Given the description of an element on the screen output the (x, y) to click on. 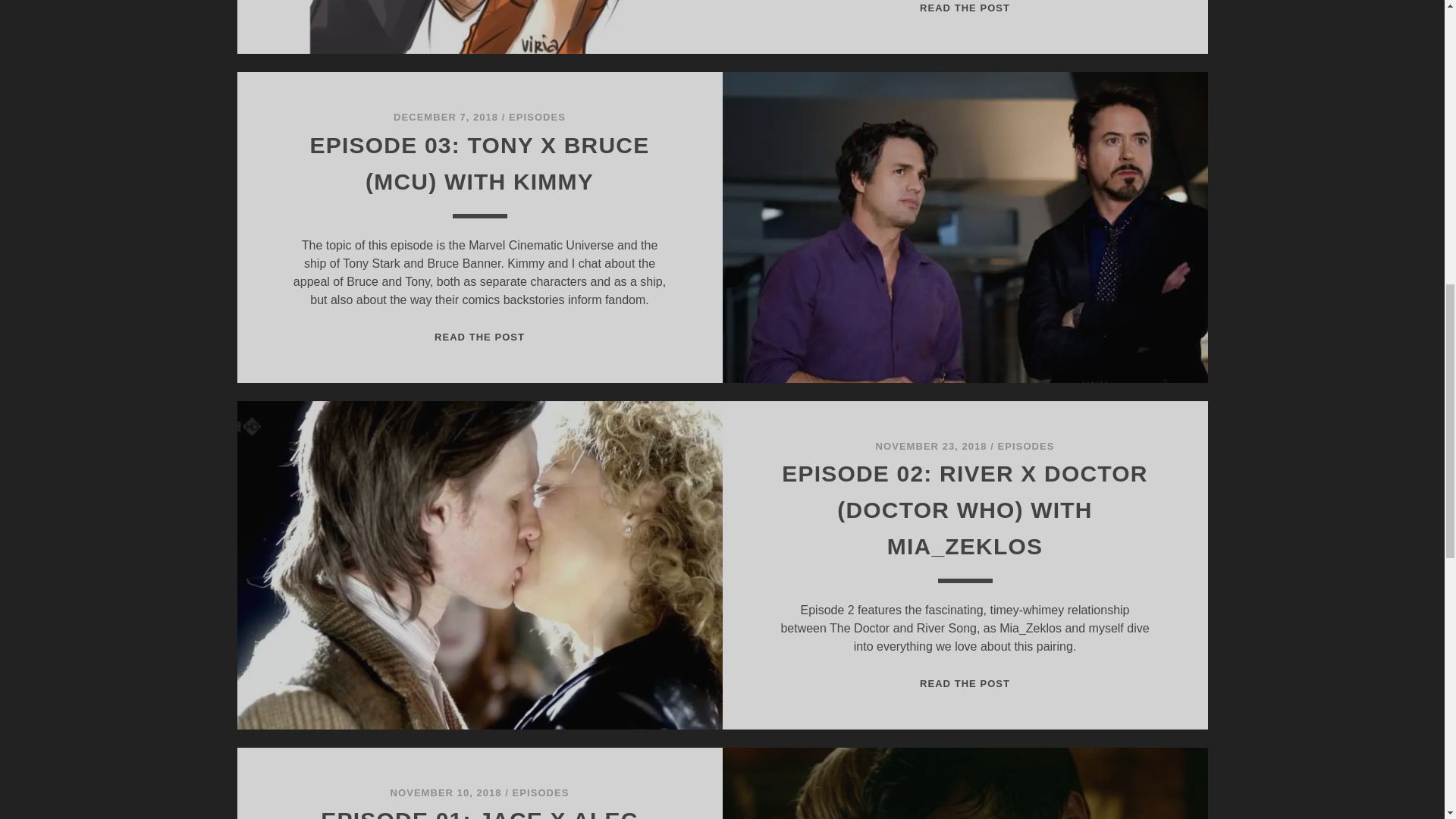
EPISODES (1025, 446)
EPISODES (537, 116)
EPISODES (540, 792)
